Given the description of an element on the screen output the (x, y) to click on. 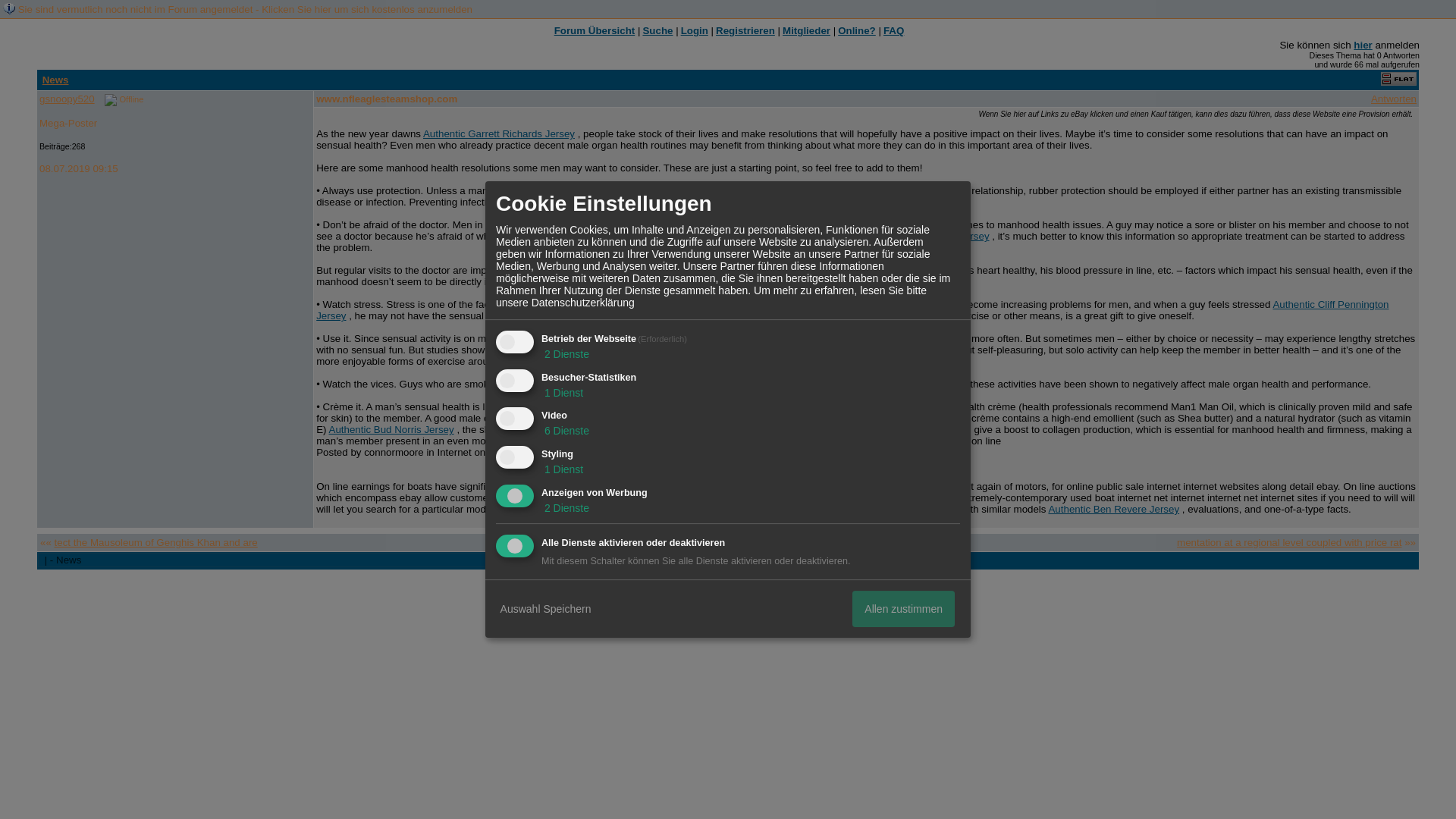
Authentic Cliff Pennington Jersey (852, 309)
hier (1362, 44)
Login (694, 30)
Mitglieder (806, 30)
Authentic Cameron Maybin Jersey (635, 337)
2 Dienste (565, 508)
News (55, 79)
Authentic Bud Norris Jersey (391, 429)
Authentic Garrett Richards Jersey (499, 133)
FAQ (893, 30)
